Given the description of an element on the screen output the (x, y) to click on. 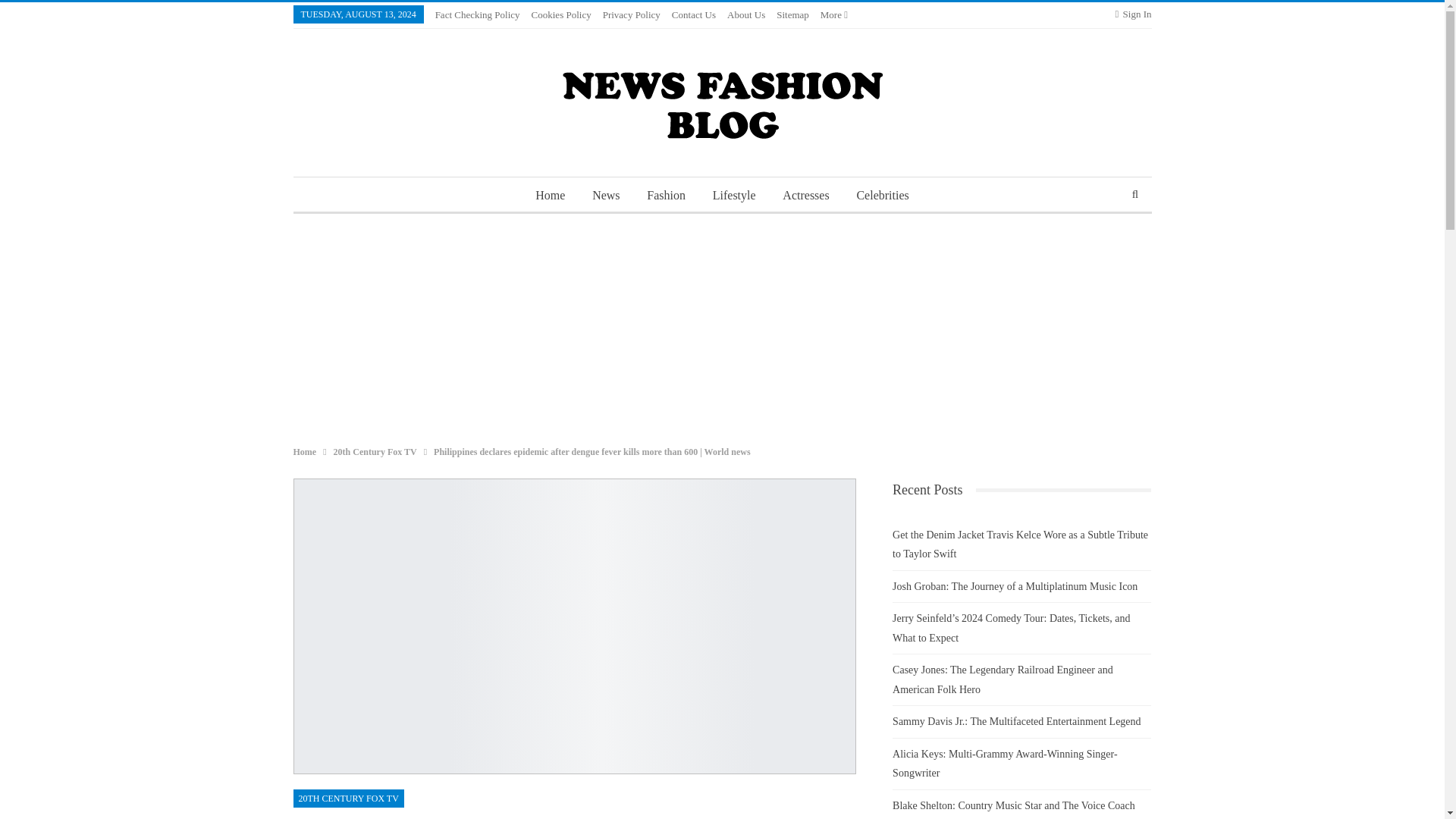
Fashion (665, 195)
News (605, 195)
Home (549, 195)
Home (303, 451)
Sign In (1133, 13)
Contact Us (693, 14)
About Us (745, 14)
Privacy Policy (631, 14)
20TH CENTURY FOX TV (347, 798)
Celebrities (882, 195)
